Given the description of an element on the screen output the (x, y) to click on. 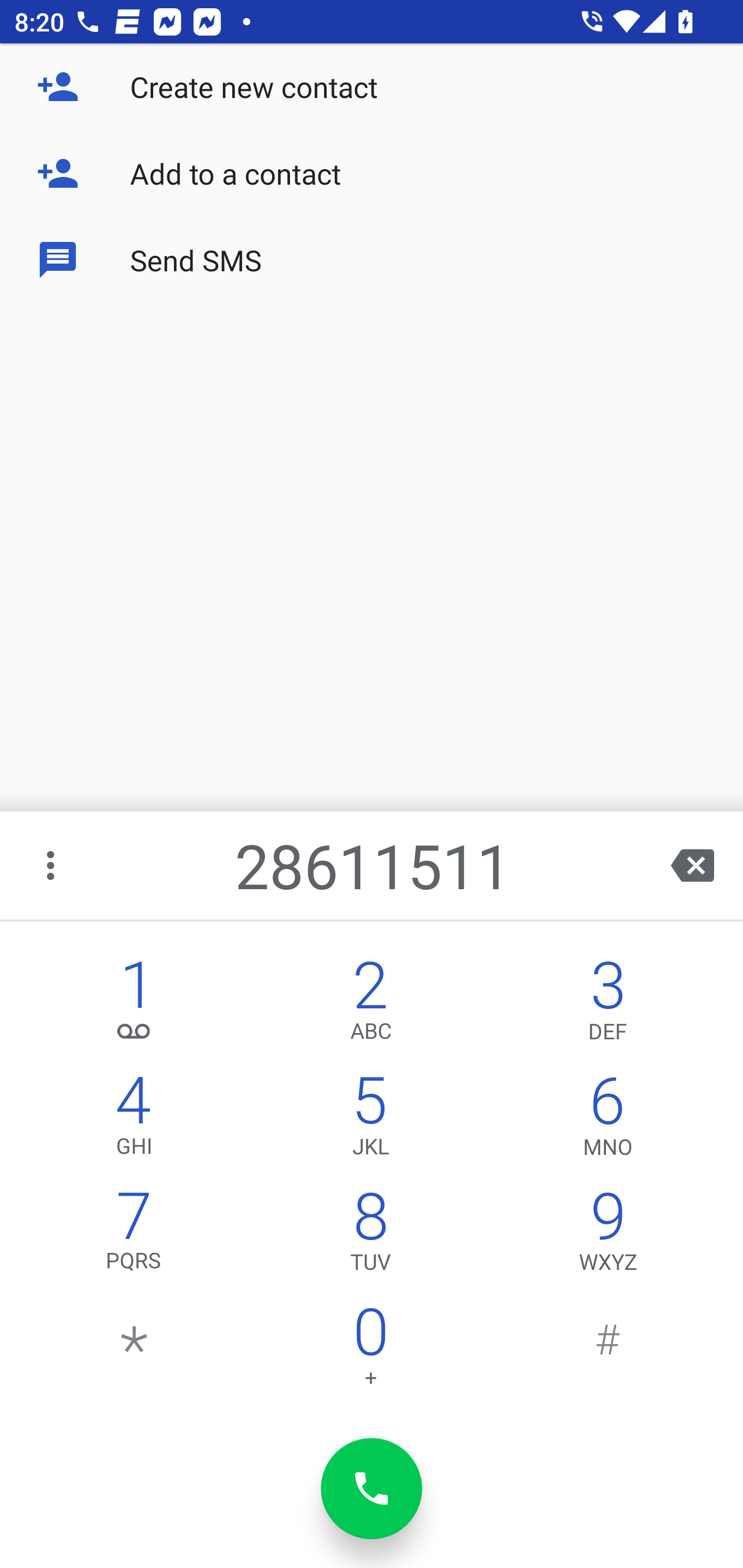
Create new contact (371, 86)
Add to a contact (371, 173)
Send SMS (371, 259)
28611511 (372, 865)
backspace (692, 865)
More options (52, 865)
1, 1 (133, 1005)
2,ABC 2 ABC (370, 1005)
3,DEF 3 DEF (607, 1005)
4,GHI 4 GHI (133, 1120)
5,JKL 5 JKL (370, 1120)
6,MNO 6 MNO (607, 1120)
7,PQRS 7 PQRS (133, 1235)
8,TUV 8 TUV (370, 1235)
9,WXYZ 9 WXYZ (607, 1235)
* (133, 1351)
0 0 + (370, 1351)
# (607, 1351)
dial (371, 1488)
